Given the description of an element on the screen output the (x, y) to click on. 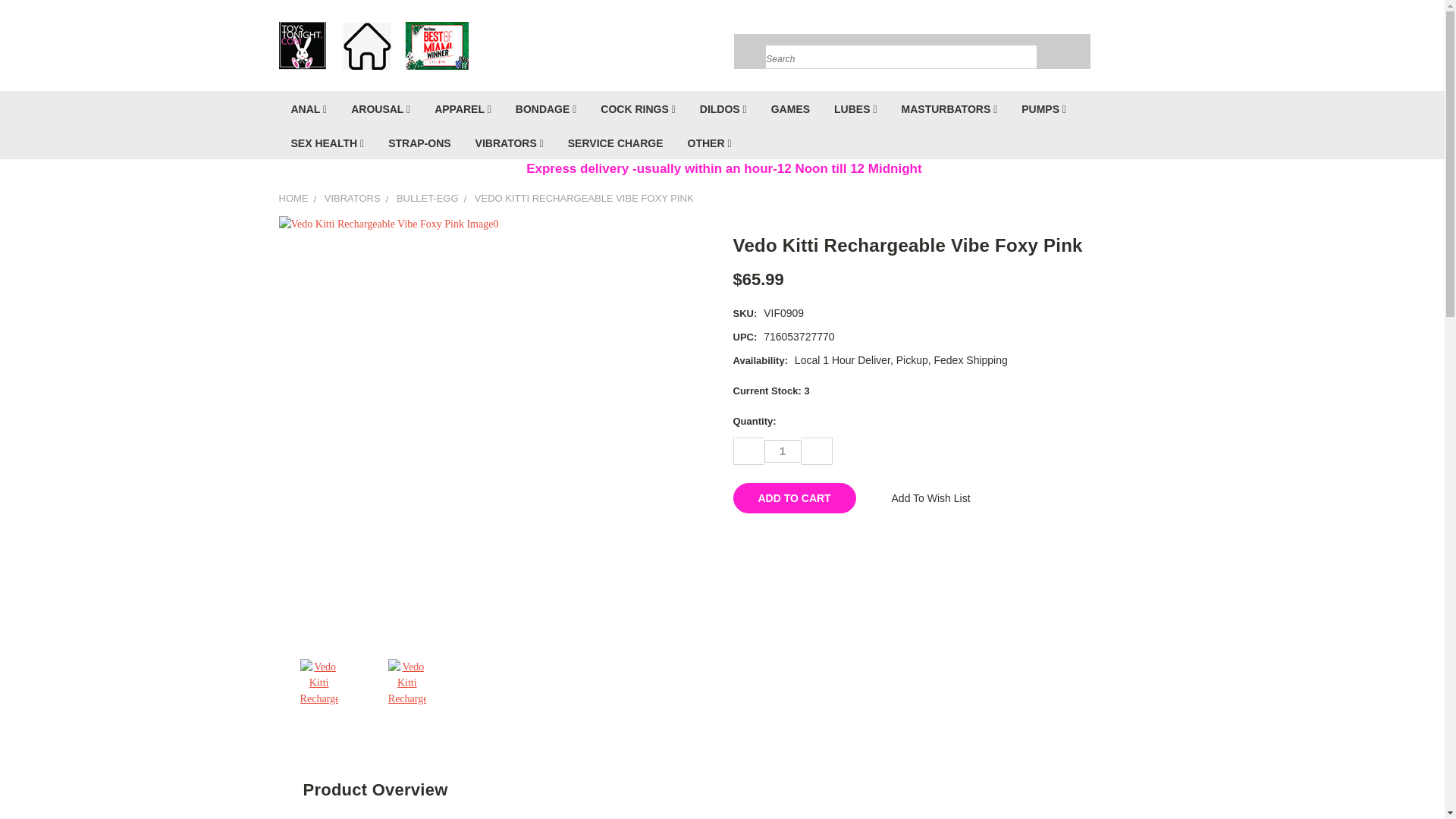
Gift Certificates (1135, 48)
Add to Cart (794, 498)
User Toolbox (1105, 48)
Cart (1161, 48)
Submit Search (1024, 38)
1 (783, 450)
Toys Tonight (373, 44)
